Given the description of an element on the screen output the (x, y) to click on. 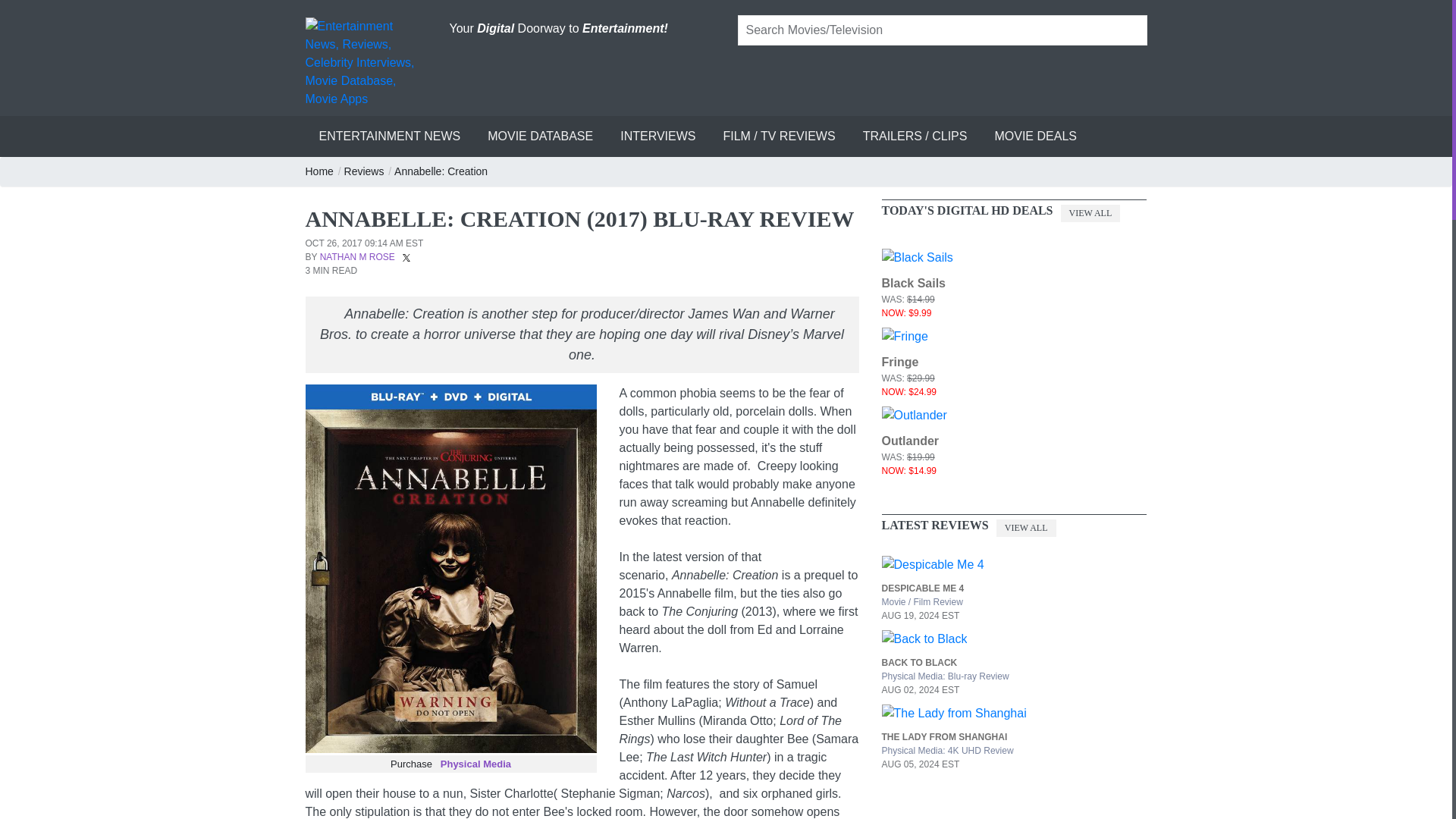
MOVIE DATABASE (540, 136)
ENTERTAINMENT NEWS (389, 136)
MOVIE DEALS (1034, 136)
More information about Annabelle: Creation (441, 171)
Home (319, 171)
Annabelle: Creation (441, 171)
Movie Deals (1034, 136)
Reviews (364, 171)
Nathan M Rose Movie Reviews (357, 256)
INTERVIEWS (658, 136)
